Given the description of an element on the screen output the (x, y) to click on. 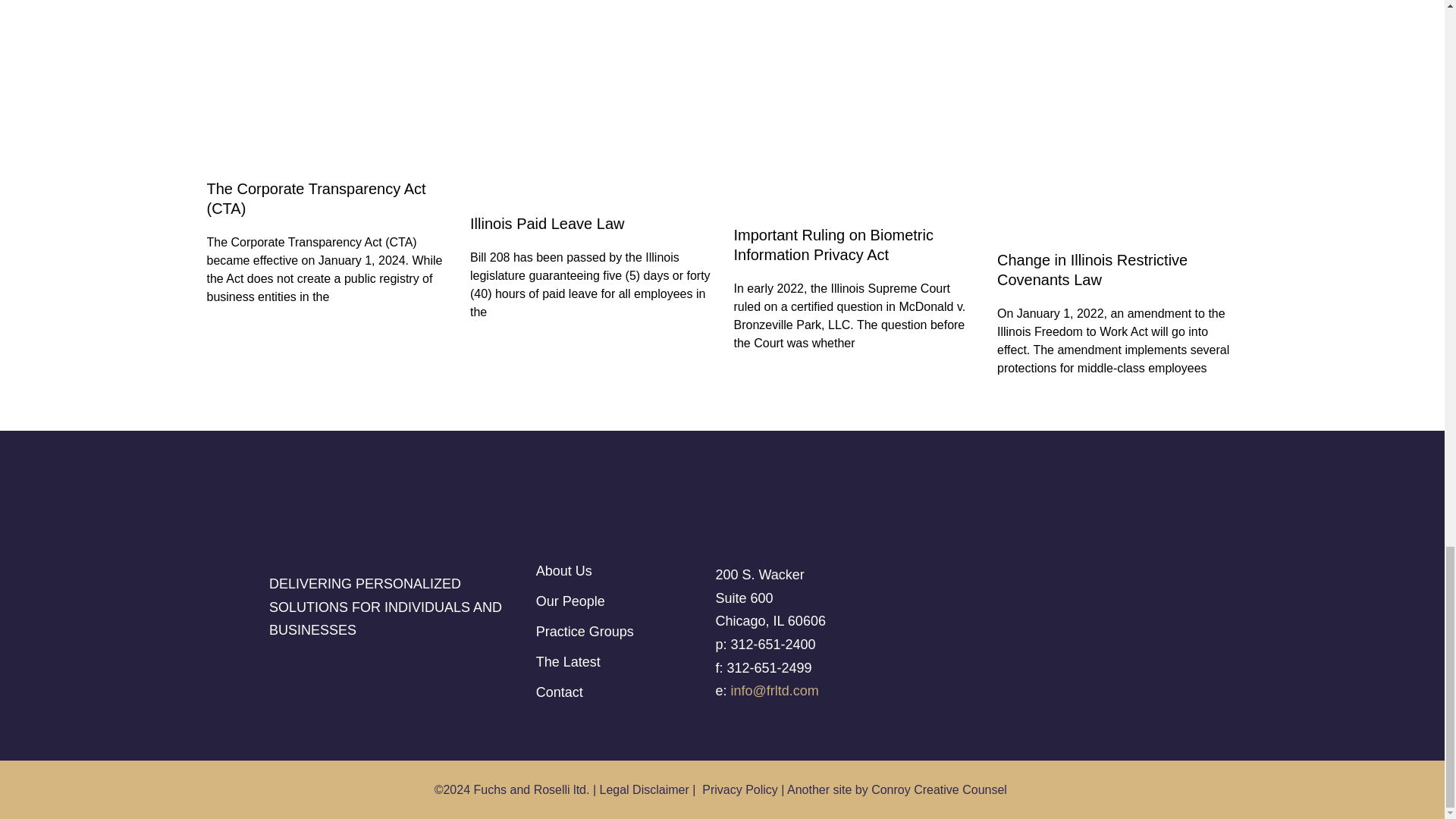
200 S Wacker, chicago, IL 60606 (1066, 627)
Important Ruling on Biometric Information Privacy Act (833, 244)
Practice Groups (621, 631)
The Latest (621, 662)
Our People (621, 601)
Illinois Paid Leave Law (547, 223)
Change in Illinois Restrictive Covenants Law (1092, 269)
About Us (621, 571)
Contact (621, 692)
